Given the description of an element on the screen output the (x, y) to click on. 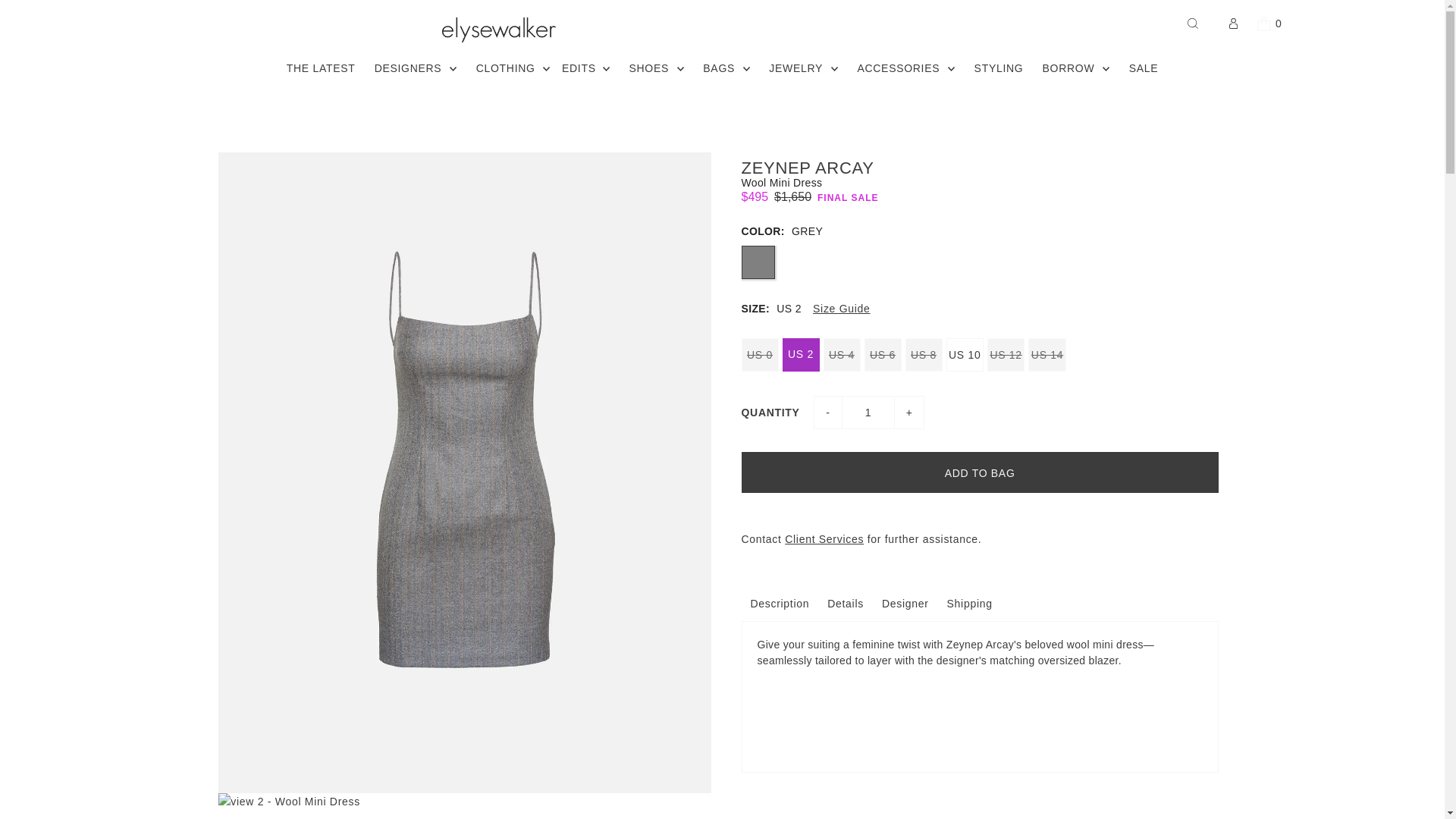
Click to zoom (464, 806)
ADD TO BAG (979, 472)
1 (868, 412)
